Given the description of an element on the screen output the (x, y) to click on. 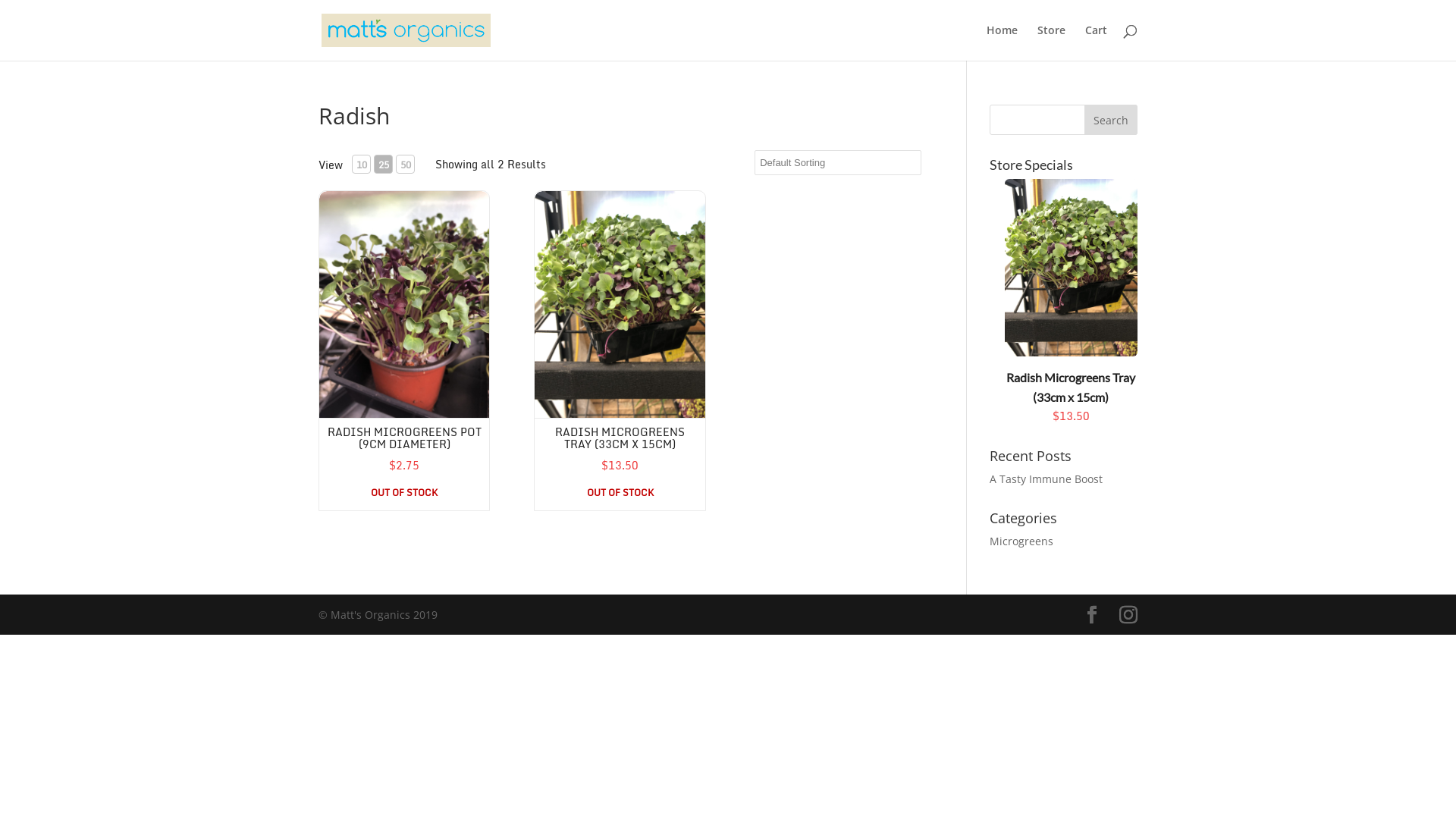
Home Element type: text (1001, 42)
Cart Element type: text (1096, 42)
Radish Microgreens Tray (33cm x 15cm) Element type: text (1070, 387)
Store Element type: text (1051, 42)
10 Element type: text (360, 163)
25 Element type: text (382, 163)
RADISH MICROGREENS POT (9CM DIAMETER) Element type: text (404, 437)
A Tasty Immune Boost Element type: text (1045, 478)
RADISH MICROGREENS TRAY (33CM X 15CM) Element type: text (619, 437)
Search Element type: text (1110, 119)
Microgreens Element type: text (1021, 540)
50 Element type: text (404, 163)
